Given the description of an element on the screen output the (x, y) to click on. 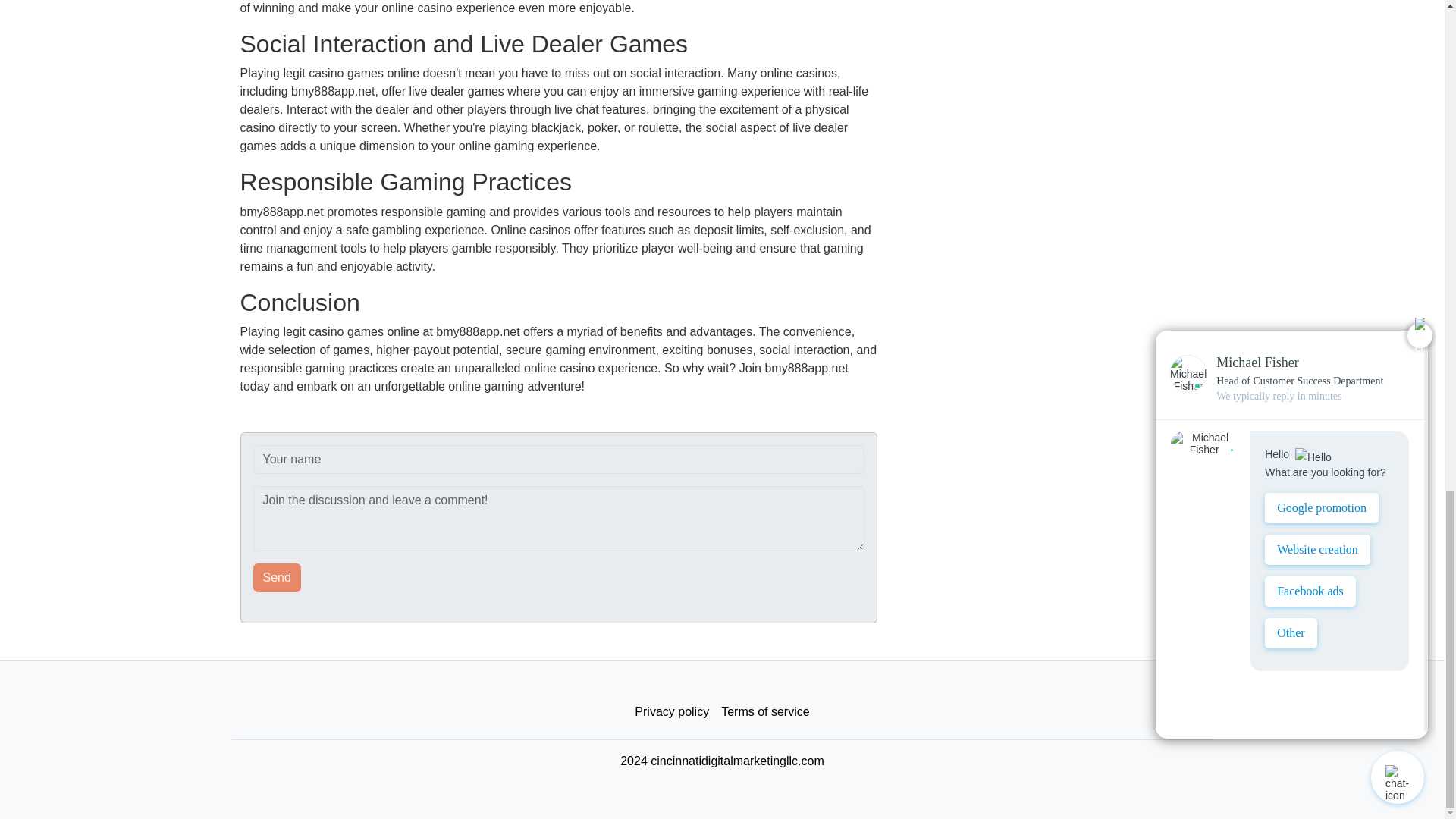
Send (277, 577)
Terms of service (764, 711)
Privacy policy (671, 711)
Send (277, 577)
